Given the description of an element on the screen output the (x, y) to click on. 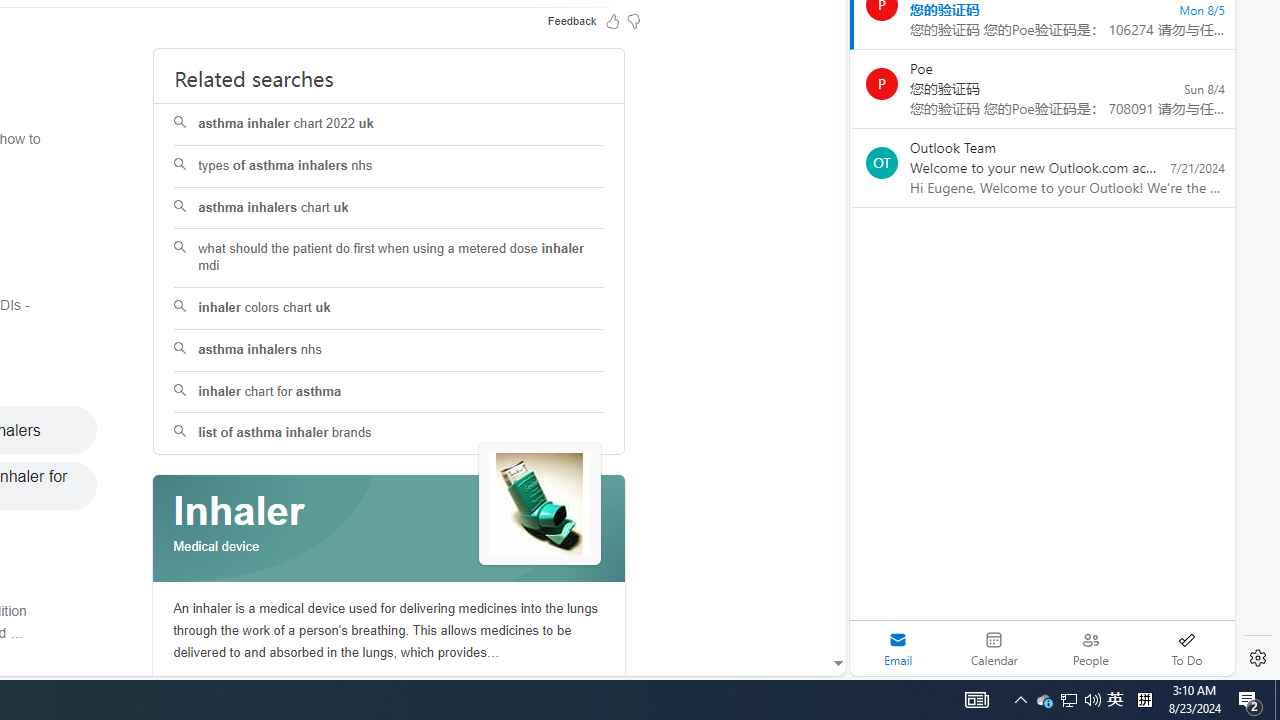
Feedback Like (612, 20)
Search more (792, 604)
asthma inhalers chart uk (388, 207)
asthma inhaler chart 2022 uk (388, 123)
AutomationID: mfa_root (762, 603)
list of asthma inhaler brands (388, 434)
list of asthma inhaler brands (389, 434)
inhaler colors chart uk (388, 308)
inhaler colors chart uk (389, 308)
inhaler chart for asthma (389, 391)
To Do (1186, 648)
Selected mail module (898, 648)
See more images of Inhaler (539, 505)
